Given the description of an element on the screen output the (x, y) to click on. 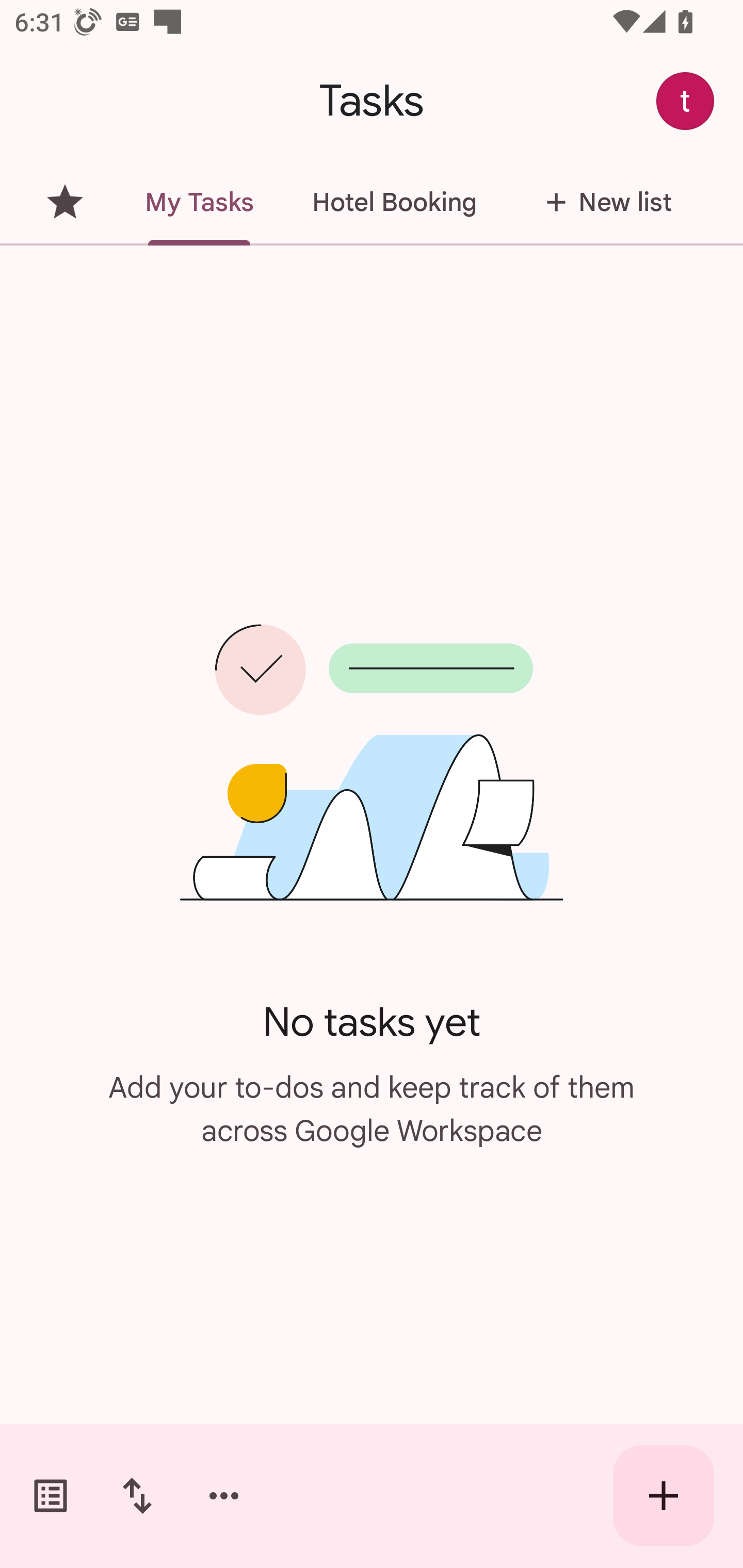
Starred (64, 202)
Hotel Booking (394, 202)
New list (602, 202)
Switch task lists (50, 1495)
Create new task (663, 1495)
Change sort order (136, 1495)
More options (223, 1495)
